Given the description of an element on the screen output the (x, y) to click on. 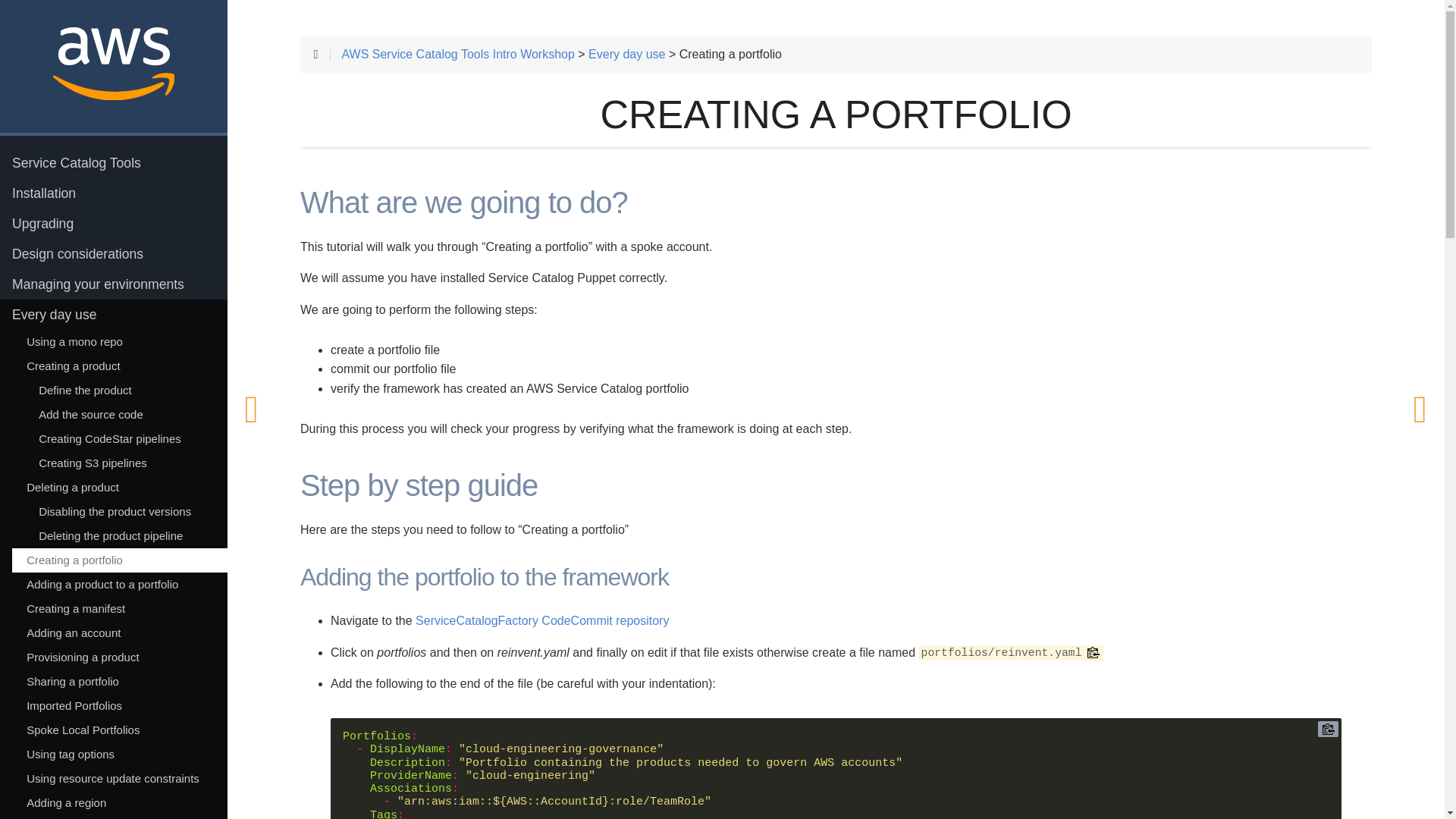
Managing your environments (113, 284)
Service Catalog Tools (113, 163)
Design considerations (113, 254)
Service Catalog Tools (113, 163)
Upgrading (113, 223)
Every day use (113, 314)
Go home (113, 66)
Upgrading (113, 223)
Installation (113, 193)
Design considerations (113, 254)
